Given the description of an element on the screen output the (x, y) to click on. 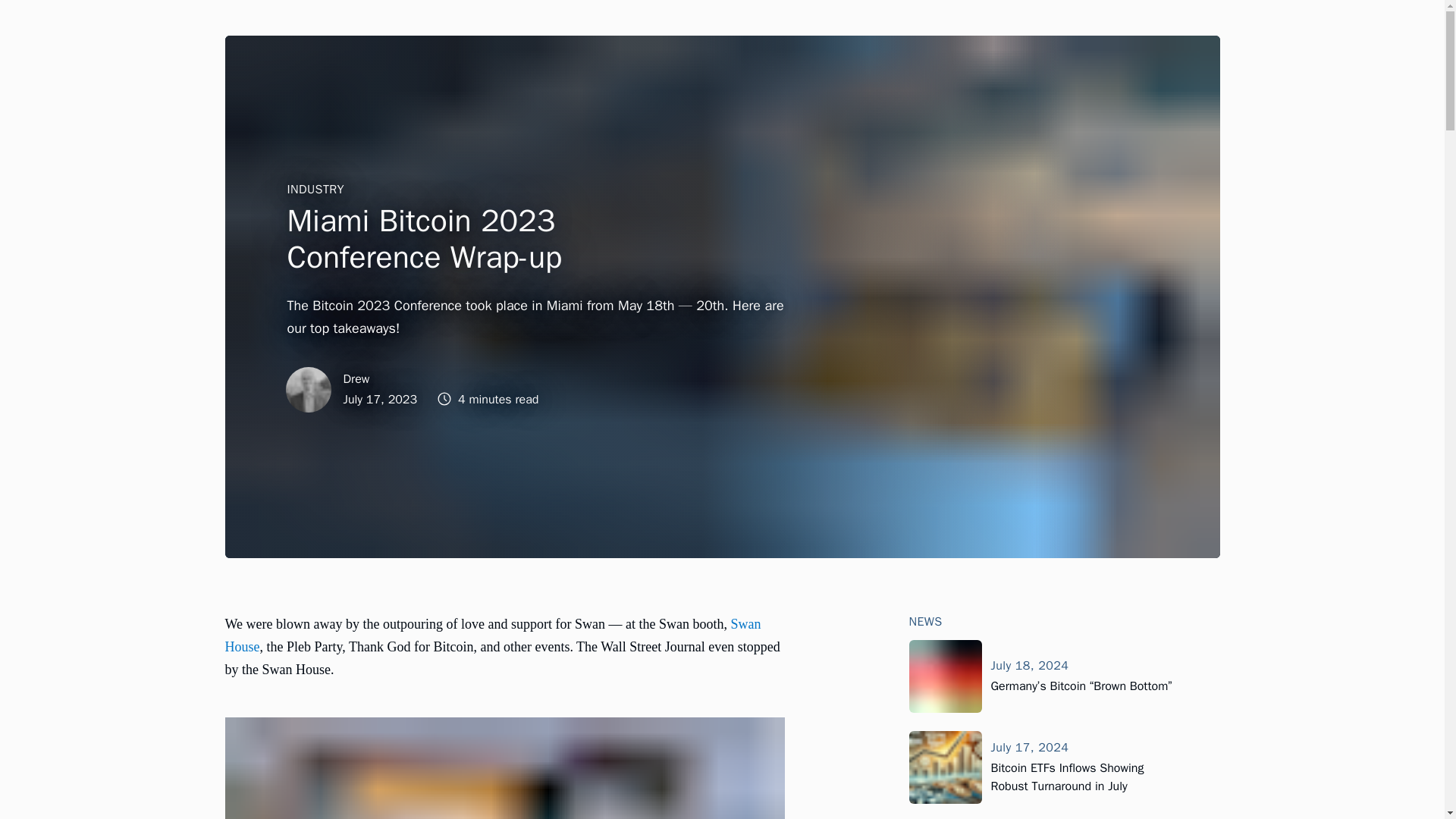
INDUSTRY (314, 189)
Swan House (492, 635)
Bitcoin ETFs Inflows Showing Robust Turnaround in July (1066, 776)
